Given the description of an element on the screen output the (x, y) to click on. 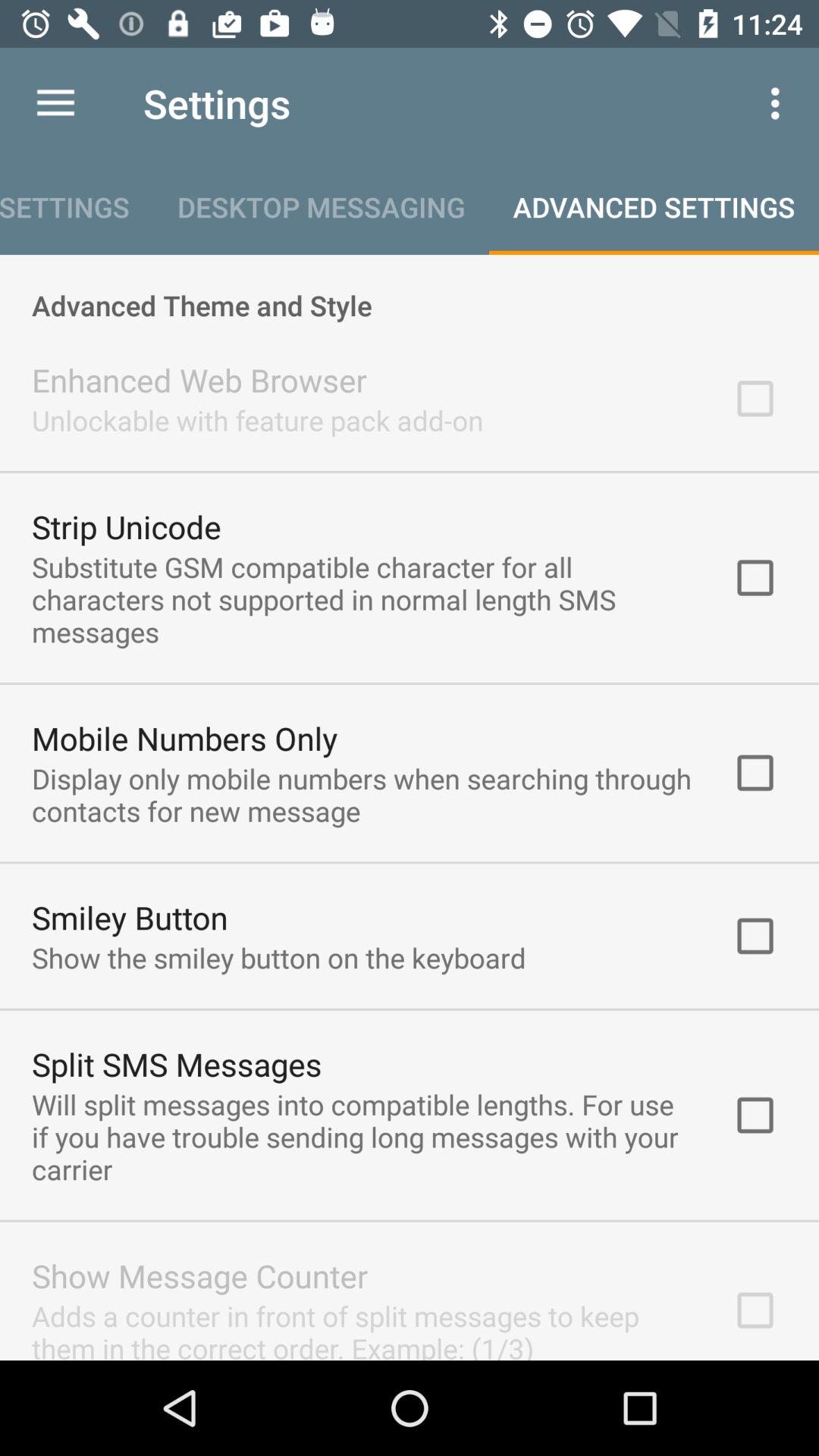
launch the item above strip unicode (257, 420)
